Given the description of an element on the screen output the (x, y) to click on. 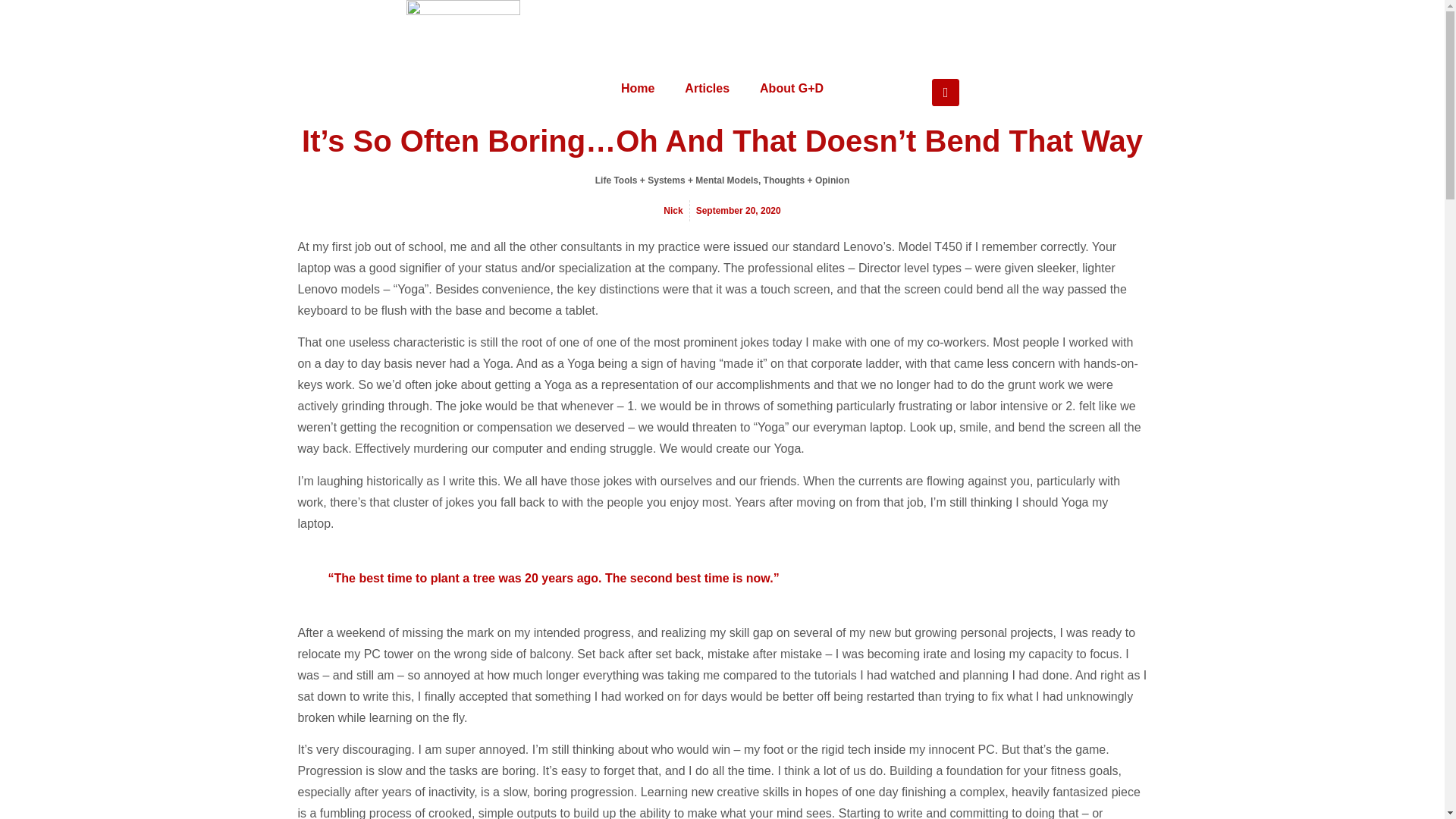
Articles (706, 88)
Home (637, 88)
